Given the description of an element on the screen output the (x, y) to click on. 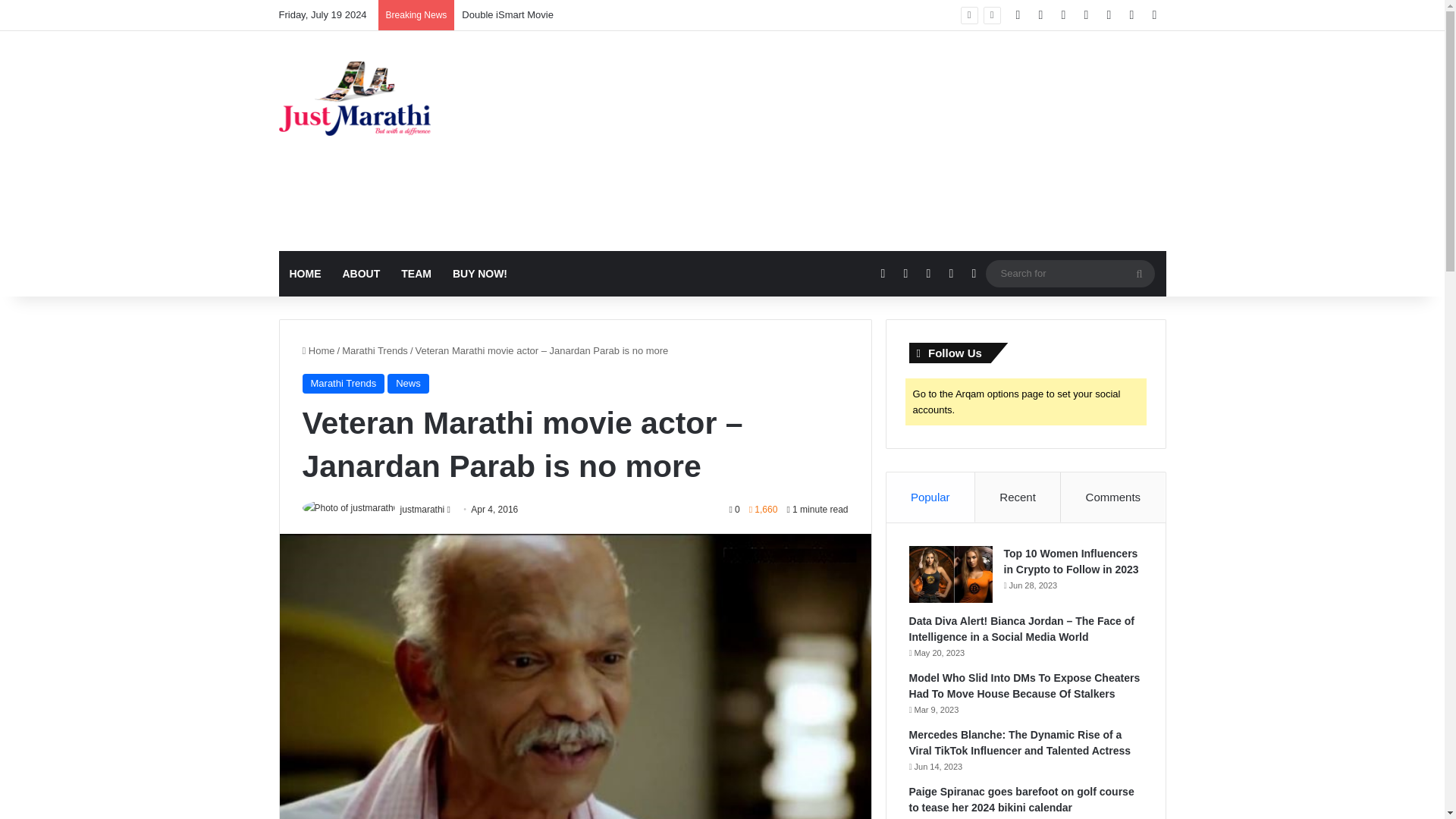
News (408, 383)
Search for (1139, 273)
ABOUT (361, 273)
HOME (305, 273)
BUY NOW! (480, 273)
TEAM (416, 273)
Home (317, 350)
Marathi Trends (374, 350)
Buy now! (480, 273)
Search for (1069, 272)
Marathi Trends (342, 383)
Double iSmart Movie (507, 14)
JustMarathi.com (354, 98)
